Given the description of an element on the screen output the (x, y) to click on. 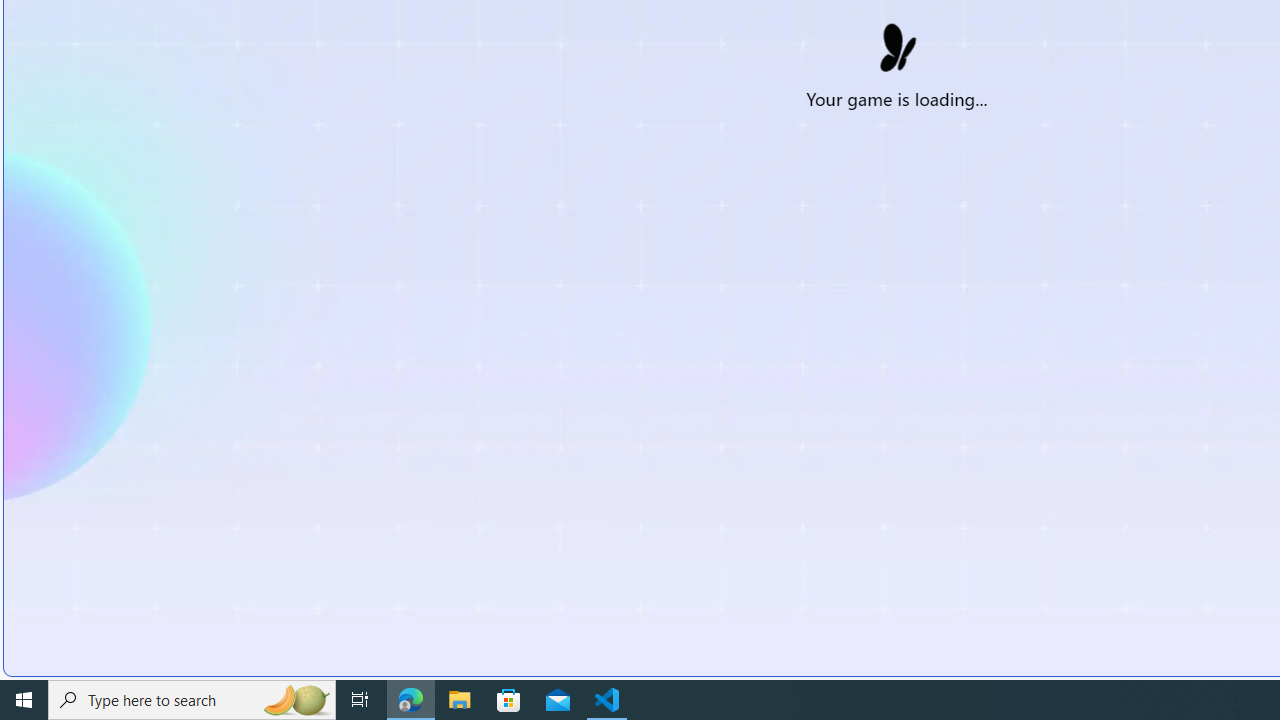
Class: image (896, 41)
